Given the description of an element on the screen output the (x, y) to click on. 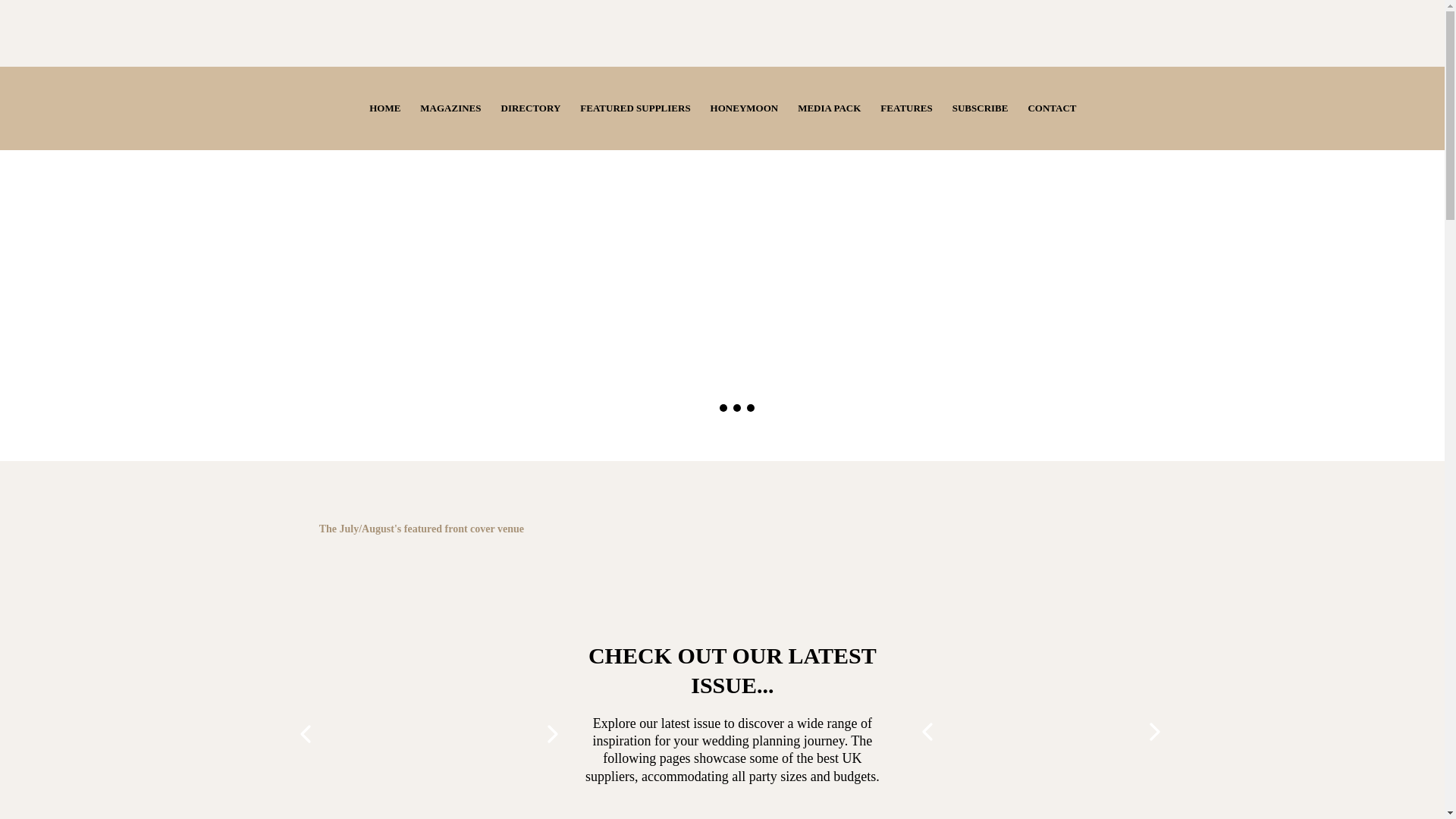
DIRECTORY (531, 108)
CONTACT (1051, 108)
FEATURES (906, 108)
HONEYMOON (744, 108)
MEDIA PACK (828, 108)
MAGAZINES (450, 108)
SUBSCRIBE (979, 108)
FEATURED SUPPLIERS (635, 108)
HOME (384, 108)
